Given the description of an element on the screen output the (x, y) to click on. 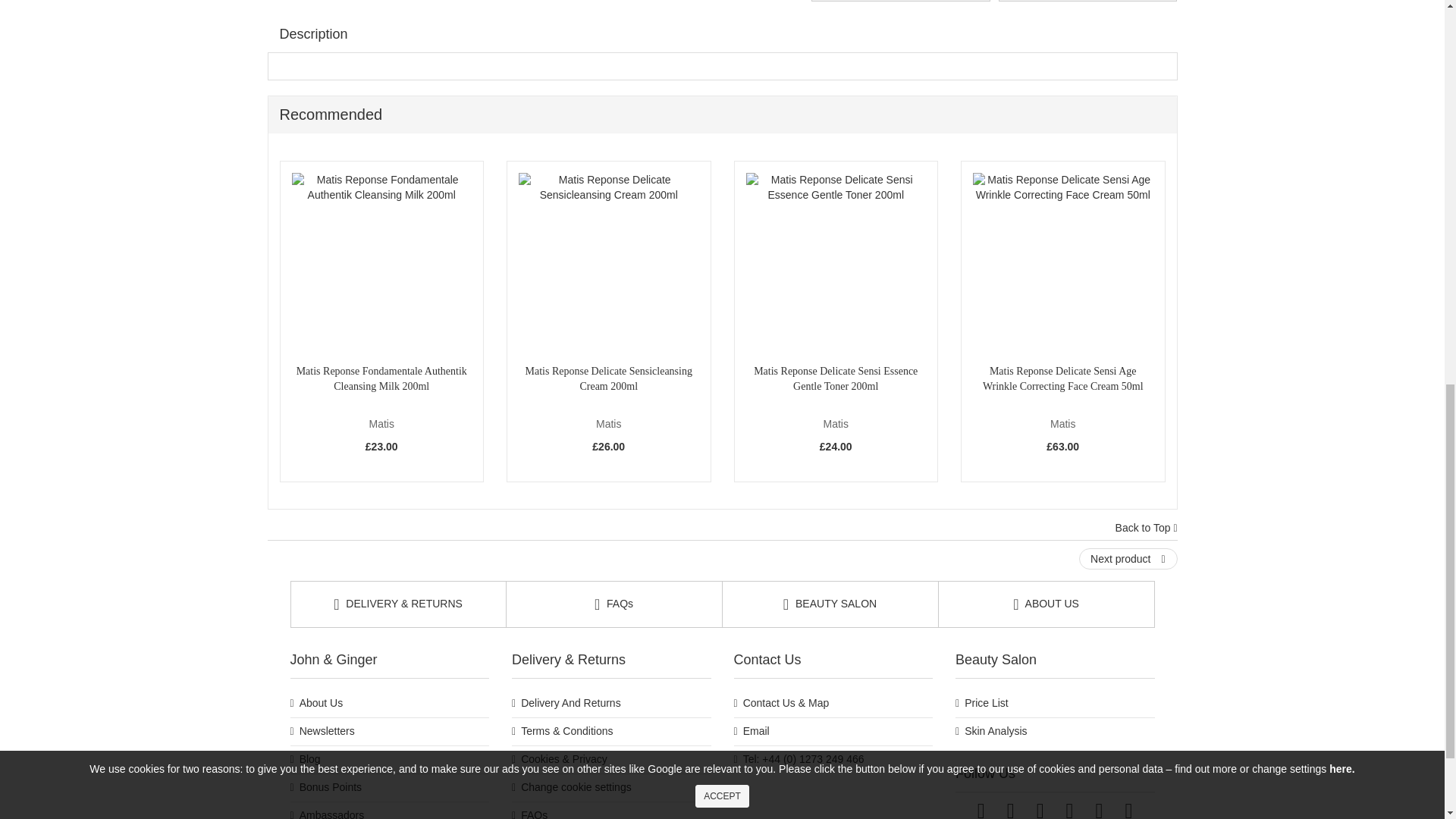
Matis Reponse Delicate Sensicleansing Cream 200ml (608, 262)
Ingredients (1087, 1)
Back to Top (1146, 528)
FAQs (900, 1)
Matis Reponse Delicate Sensi Essence Gentle Toner 200ml (835, 262)
Matis Reponse Fondamentale Authentik Cleansing Milk 200ml (381, 262)
Description (312, 34)
Ingredients (1087, 1)
